Given the description of an element on the screen output the (x, y) to click on. 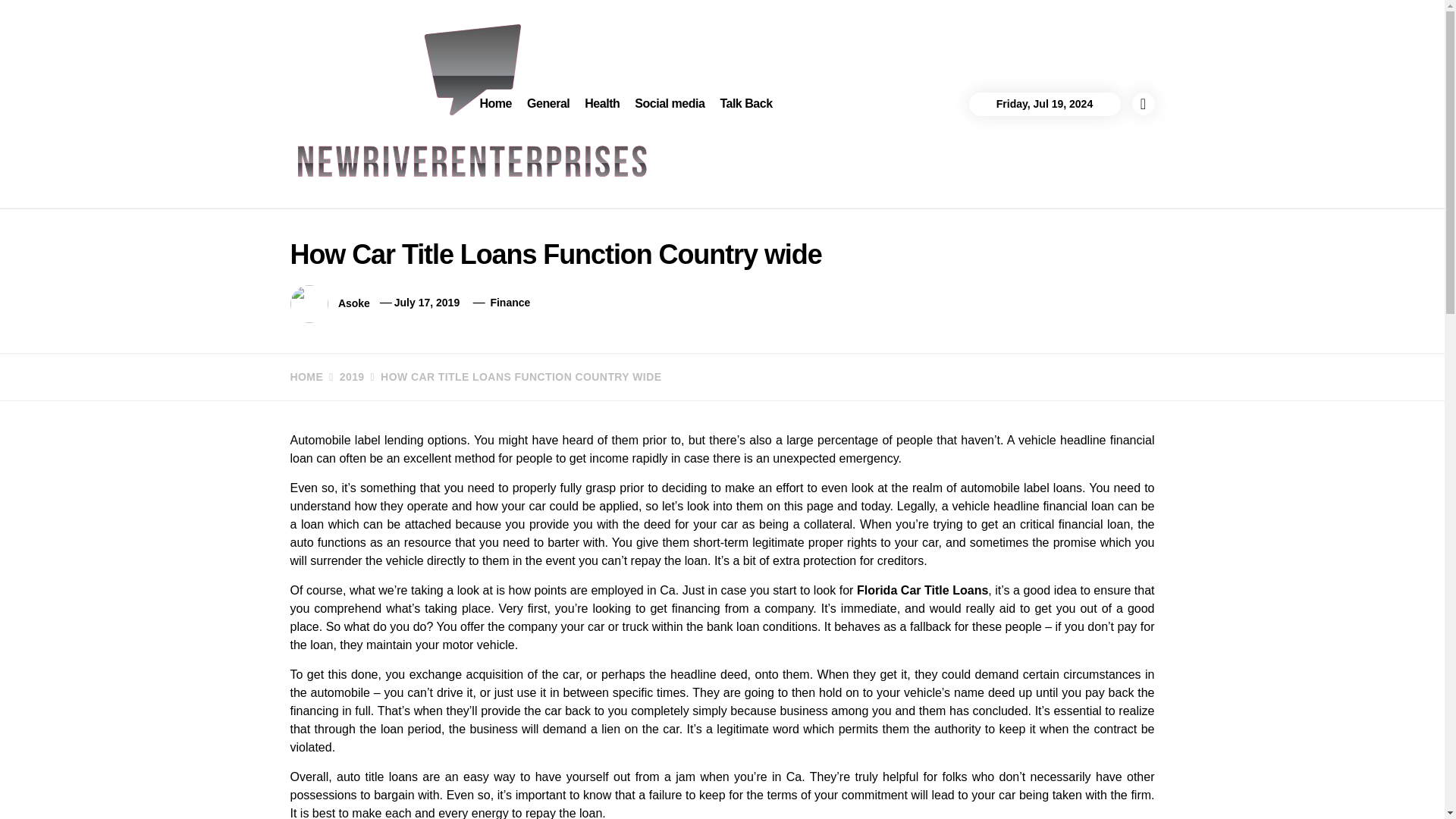
Health (601, 104)
Florida Car Title Loans (922, 590)
Positive thinking (392, 207)
General (547, 104)
HOME (306, 377)
Asoke (353, 302)
July 17, 2019 (427, 302)
Social media (669, 104)
Search (797, 41)
Talk Back (744, 104)
Home (495, 104)
HOW CAR TITLE LOANS FUNCTION COUNTRY WIDE (513, 377)
Finance (509, 302)
2019 (343, 377)
